Given the description of an element on the screen output the (x, y) to click on. 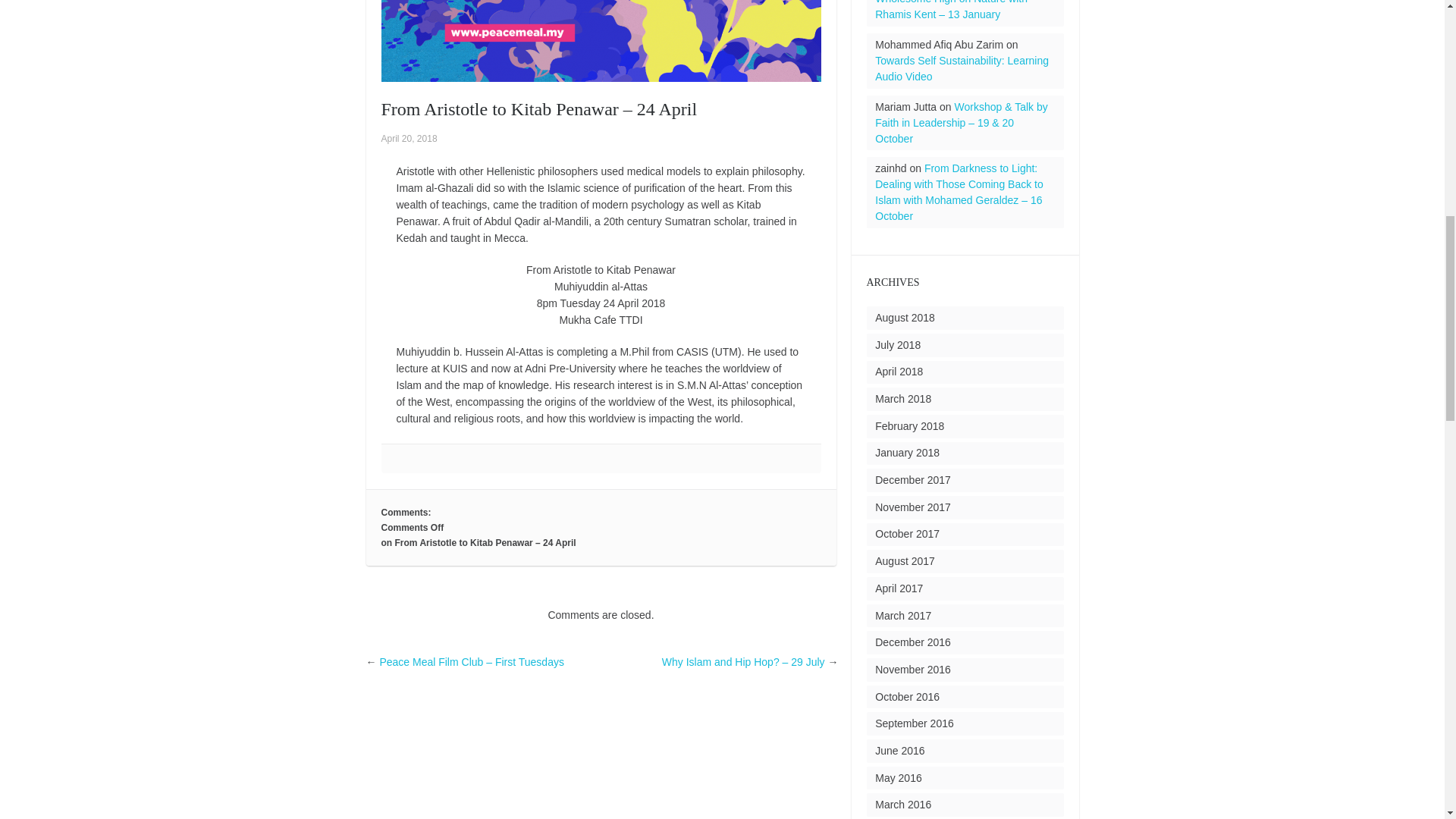
December 2017 (912, 480)
September 2016 (914, 723)
November 2016 (912, 669)
March 2018 (903, 398)
March 2017 (903, 615)
August 2017 (904, 561)
August 2018 (904, 317)
Towards Self Sustainability: Learning Audio Video (961, 68)
December 2016 (912, 642)
October 2017 (907, 533)
July 2018 (897, 345)
November 2017 (912, 507)
February 2018 (909, 426)
January 2018 (907, 452)
April 2018 (899, 371)
